Given the description of an element on the screen output the (x, y) to click on. 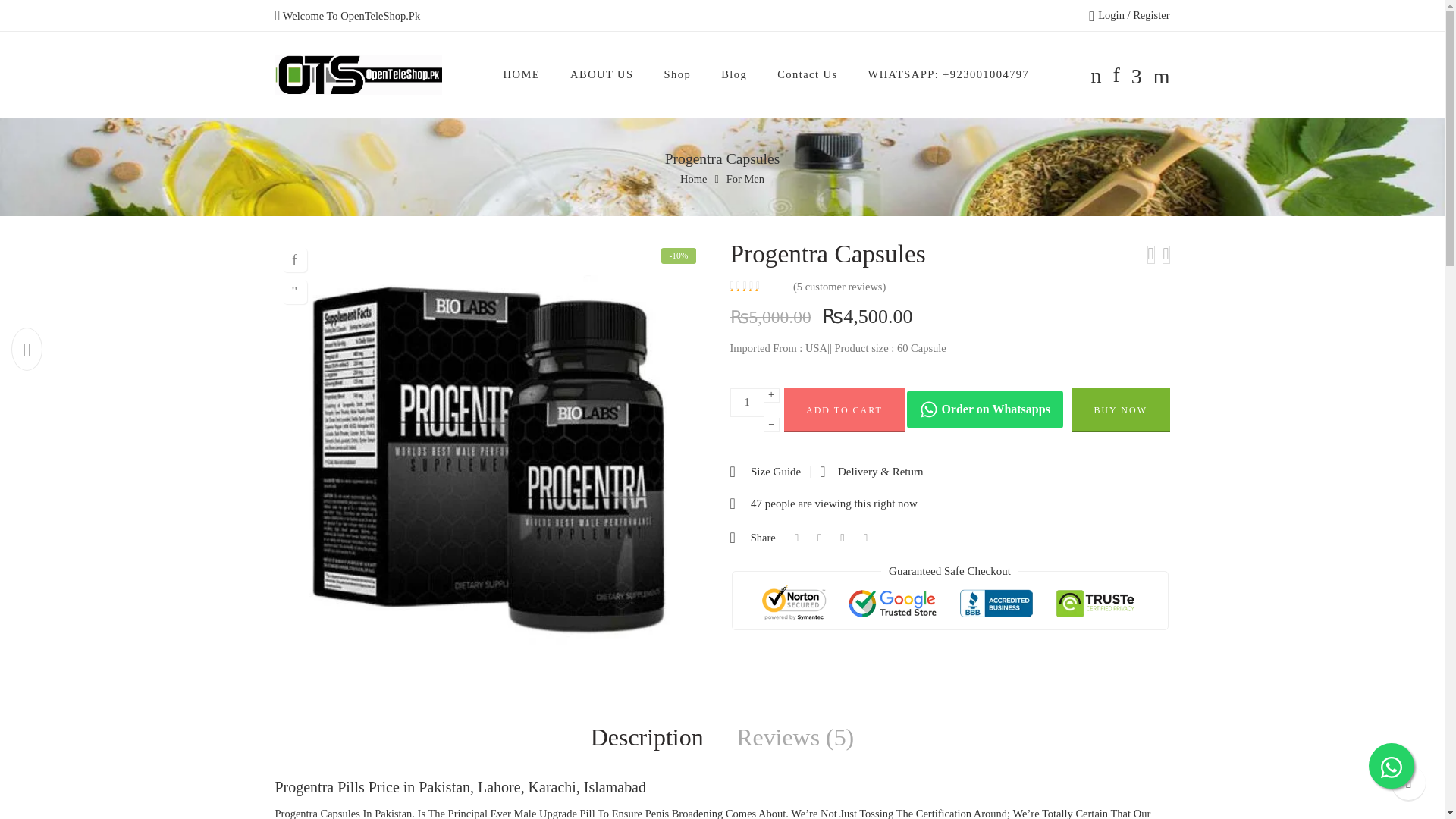
Open Tele Shop For Pakistan - Buy it at lesser prices (358, 75)
Home (692, 179)
ABOUT US (601, 74)
HOME (521, 74)
For Men (745, 179)
Contact Us (807, 74)
ABOUT US (601, 74)
1 (745, 402)
HOME (521, 74)
Contact Us (807, 74)
